Given the description of an element on the screen output the (x, y) to click on. 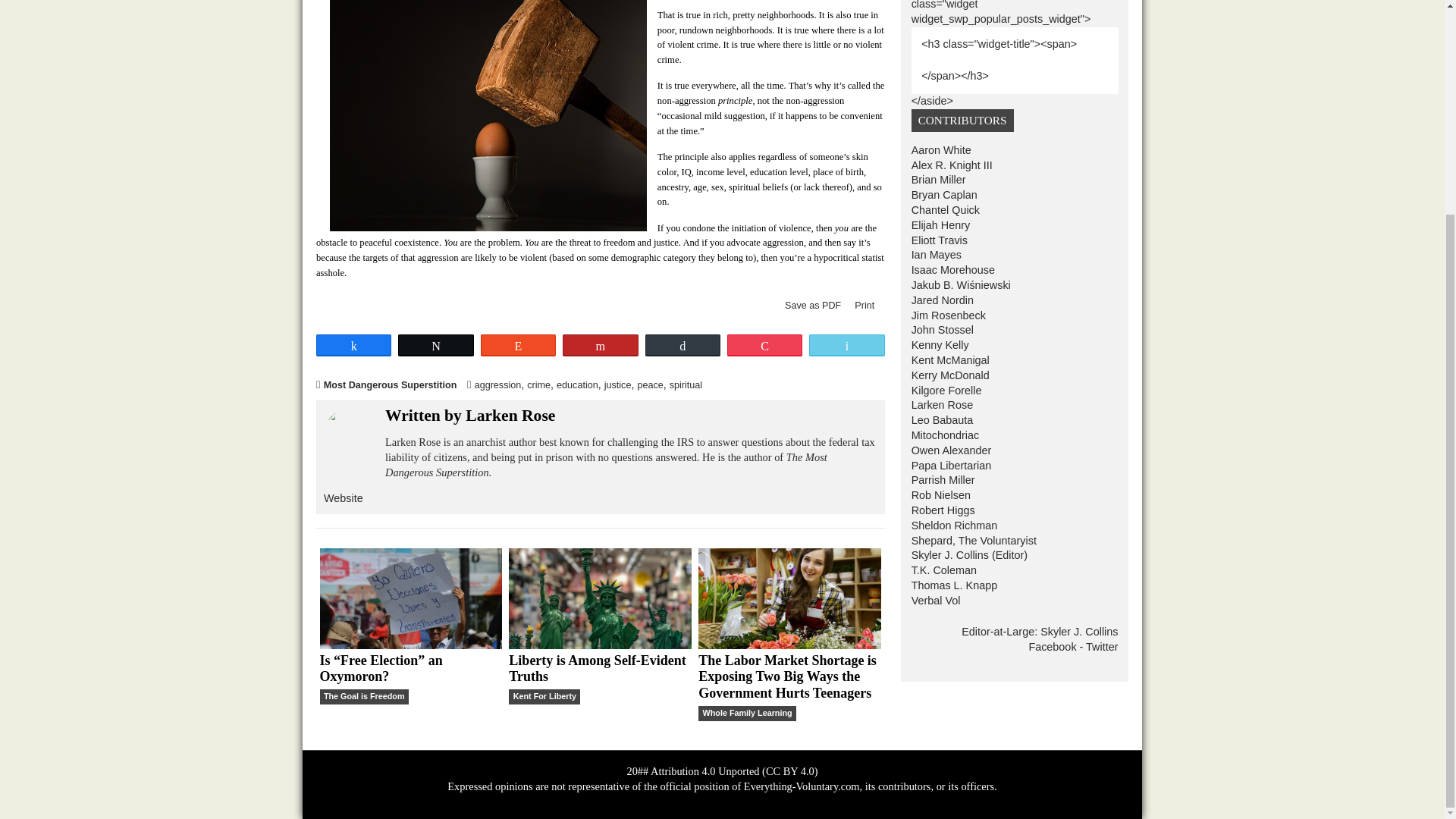
Posts by Elijah Henry (1044, 281)
Posts by Isaac Morehouse (1058, 331)
Posts by Bryan Caplan (1048, 247)
Posts by Jim Rosenbeck (1052, 381)
Posts by Brian Miller (1042, 231)
Posts by Larken Rose (567, 493)
Posts by Ian Mayes (1039, 314)
Posts by Chantel Quick (1049, 264)
Posts by Alex R. Knight III (1056, 214)
Posts by Aaron White (1044, 197)
